Given the description of an element on the screen output the (x, y) to click on. 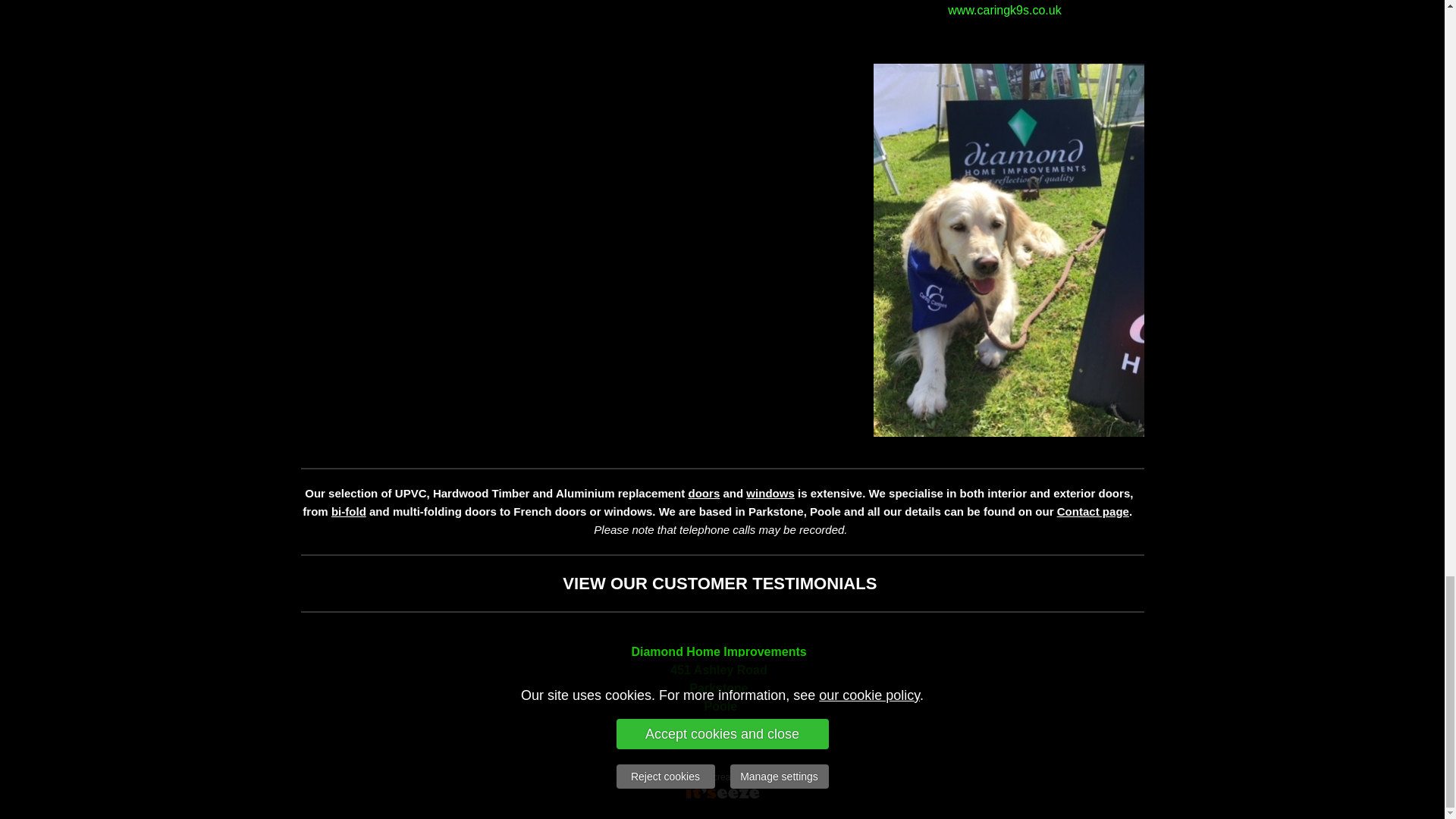
bi-fold (348, 511)
windows (769, 492)
it'seeze (773, 775)
doors (704, 492)
www.caringk9s.co.uk  (1005, 10)
Contact page (1093, 511)
